Given the description of an element on the screen output the (x, y) to click on. 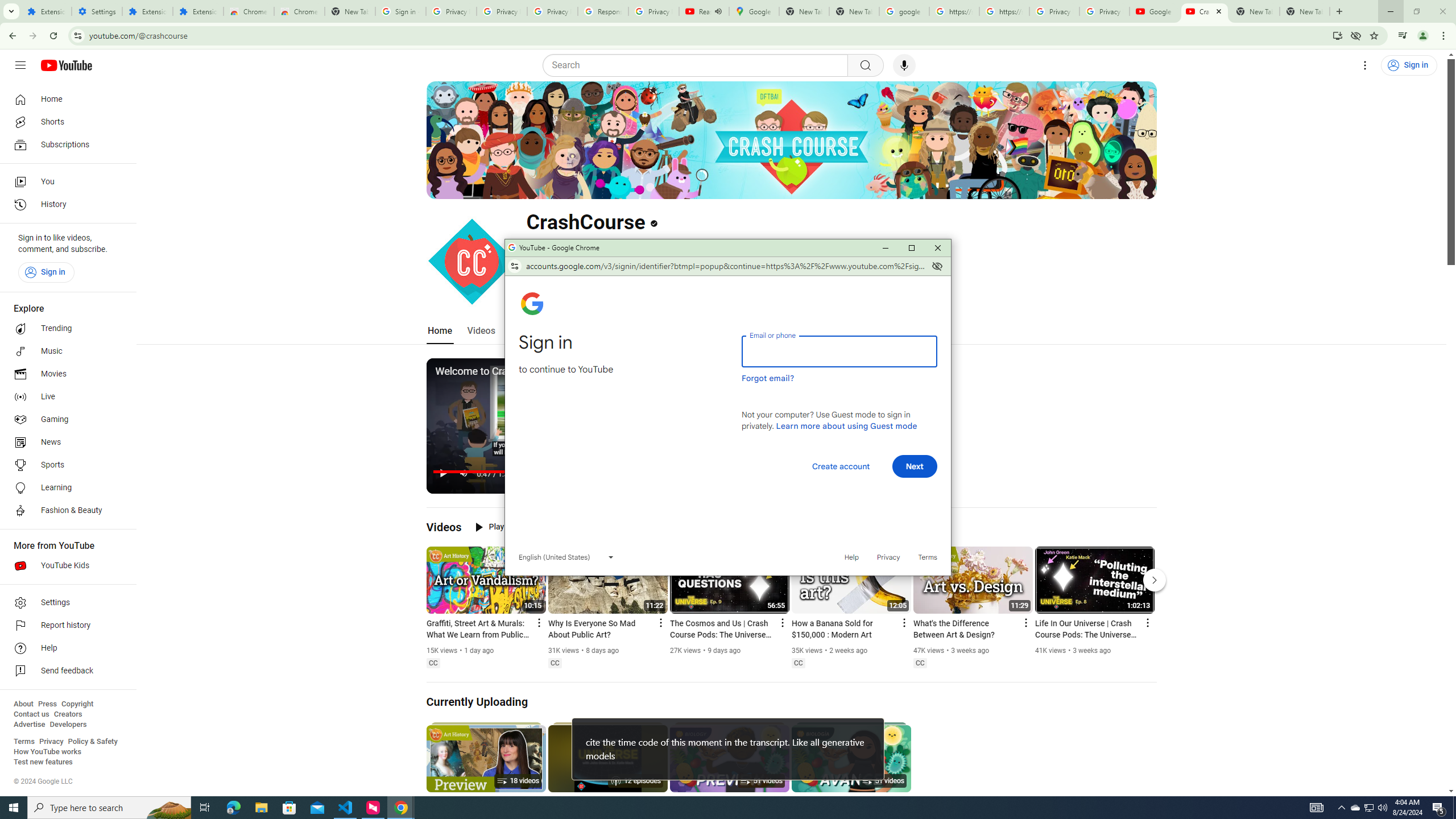
User Promoted Notification Area (1368, 807)
File Explorer (261, 807)
New Tab (350, 11)
Extensions (197, 11)
Live (64, 396)
Running applications (717, 807)
